Given the description of an element on the screen output the (x, y) to click on. 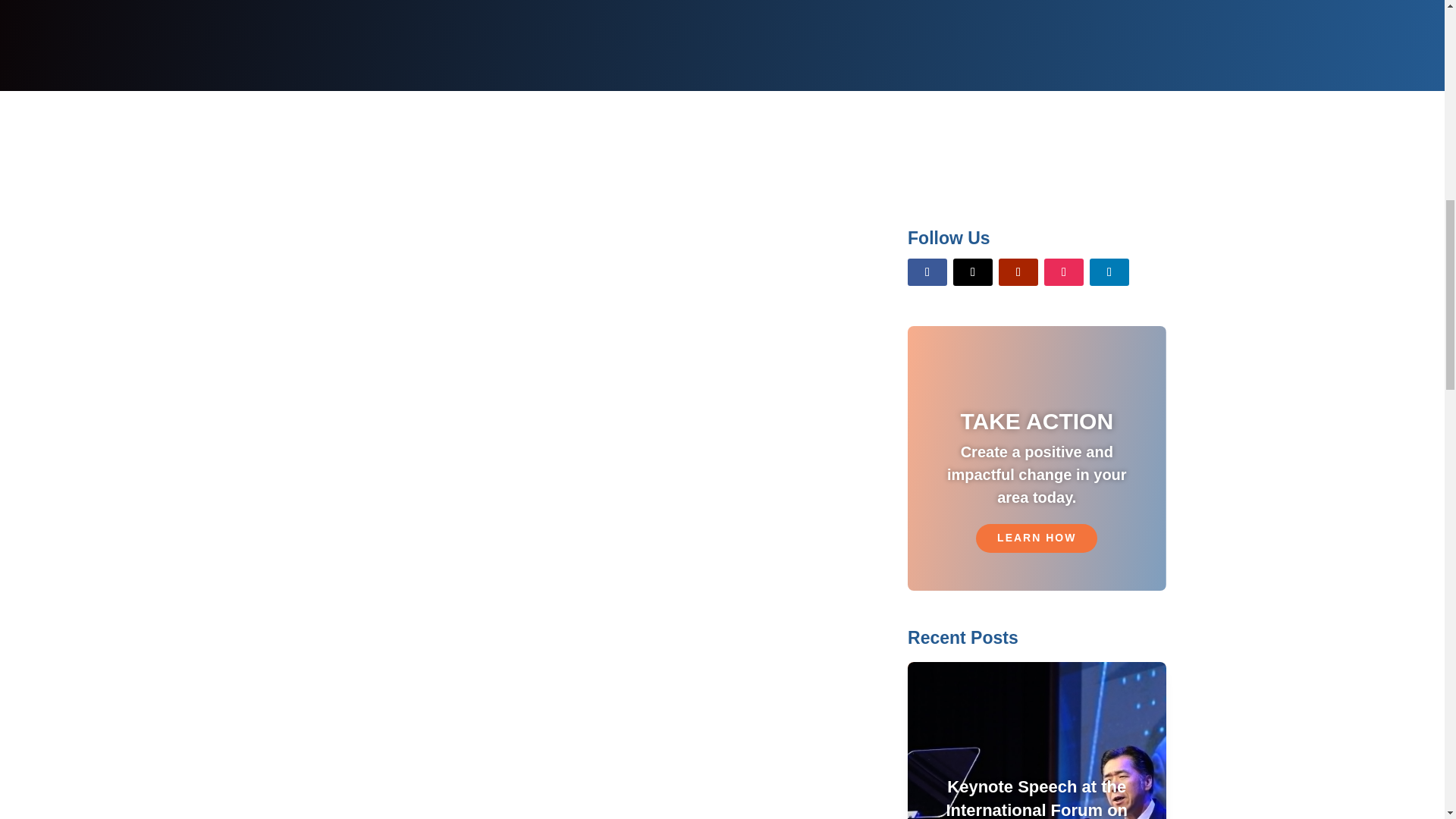
Follow on Instagram (1063, 271)
Follow on X (972, 271)
Follow on LinkedIn (1109, 271)
Follow on Youtube (1018, 271)
Follow on Facebook (927, 271)
